Given the description of an element on the screen output the (x, y) to click on. 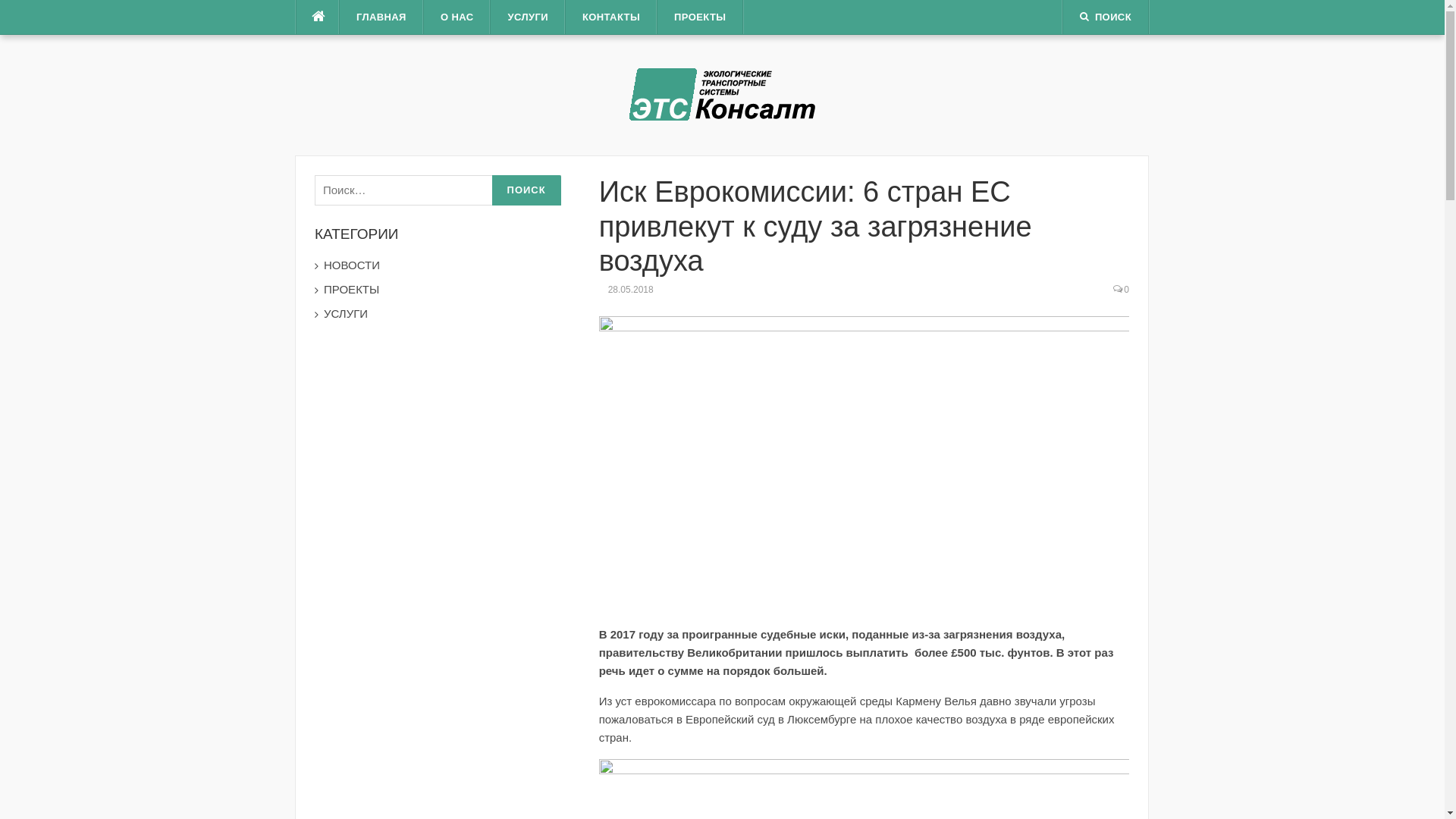
etsconsult Element type: hover (721, 93)
0 Element type: text (1126, 289)
